Given the description of an element on the screen output the (x, y) to click on. 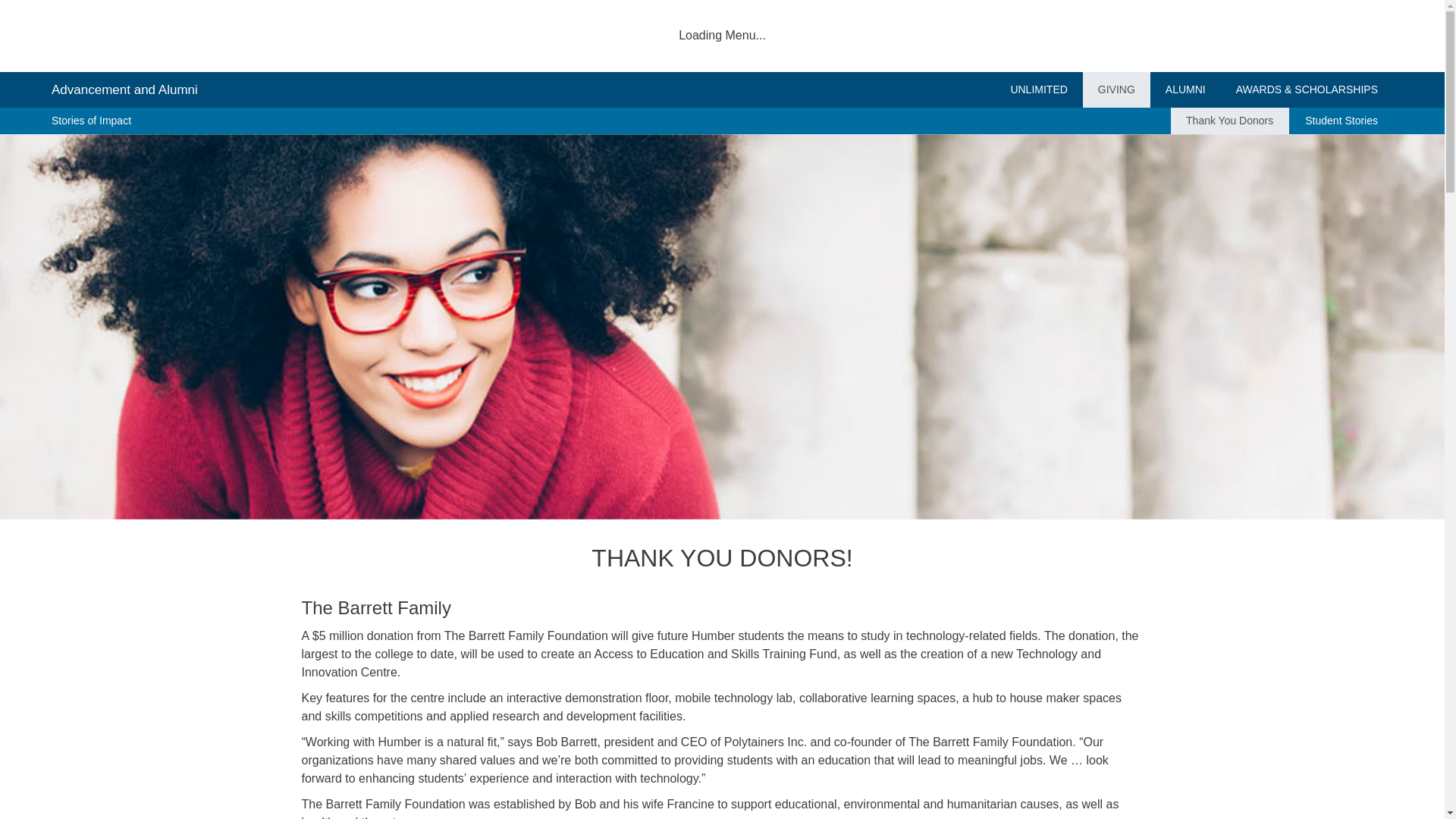
Book a Tour (1015, 35)
UNLIMITED (1256, 35)
Alerts (1037, 89)
Advancement and Alumni (1173, 36)
GIVING (1355, 35)
